Given the description of an element on the screen output the (x, y) to click on. 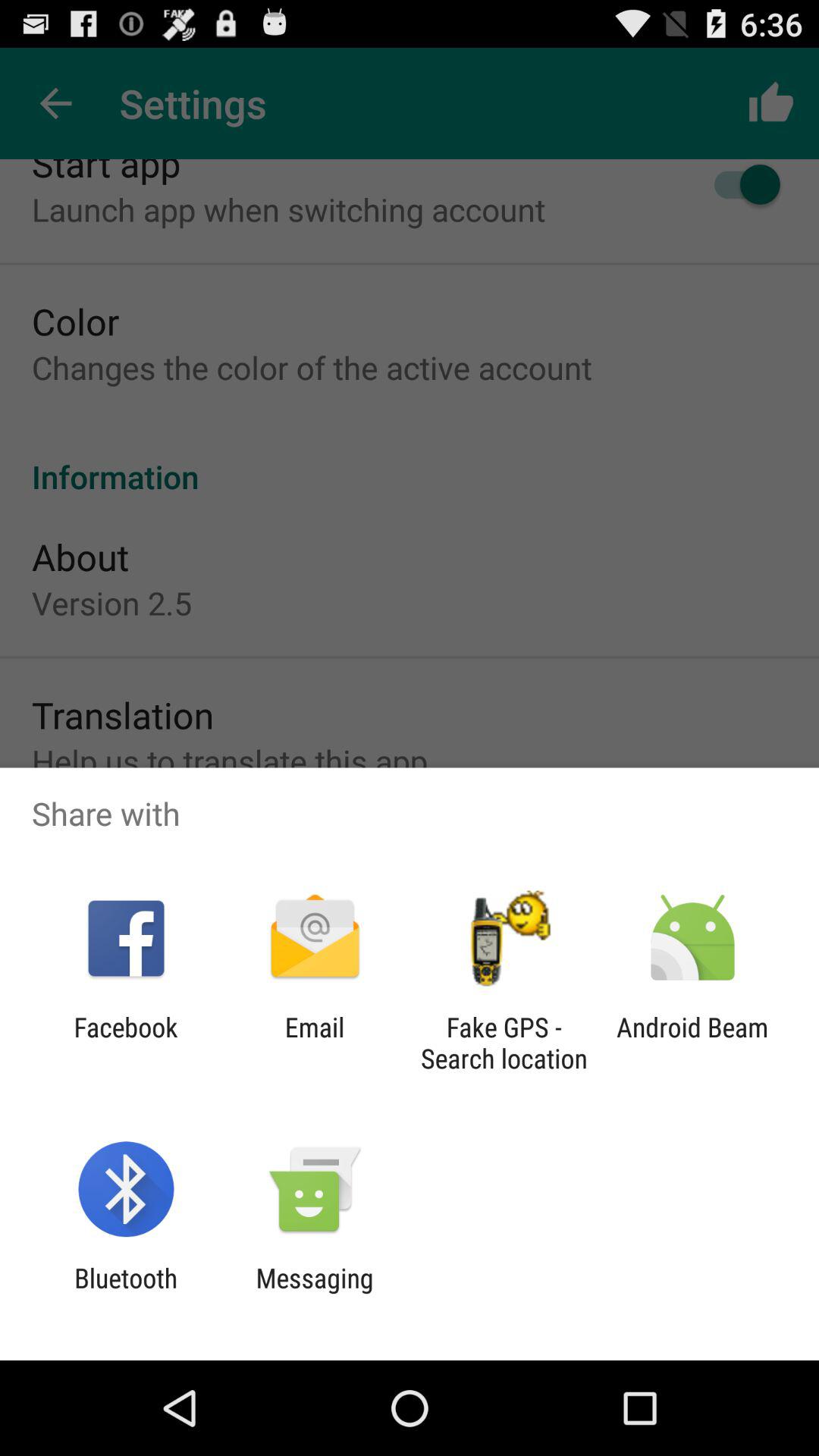
press facebook app (125, 1042)
